Given the description of an element on the screen output the (x, y) to click on. 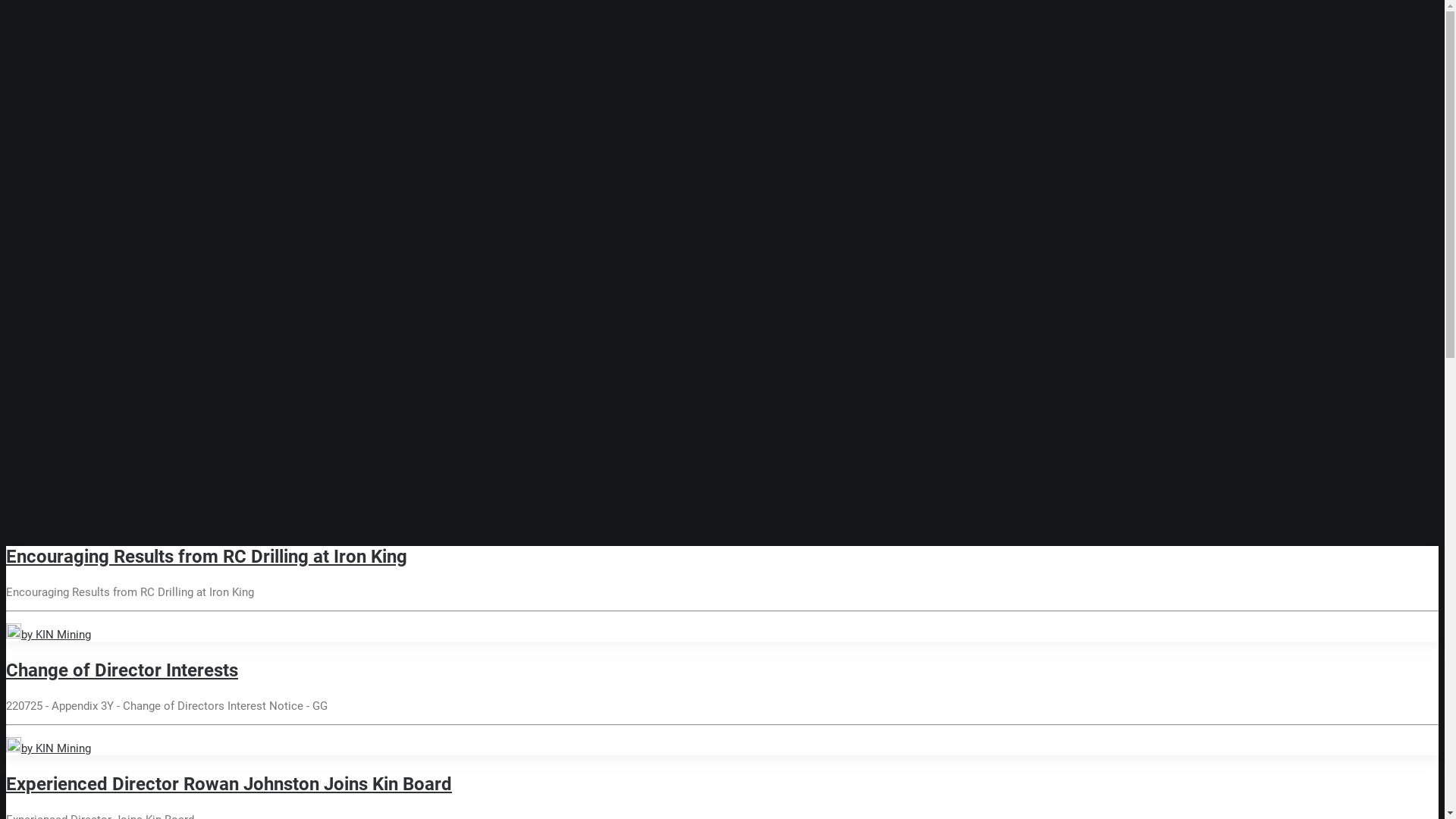
by KIN Mining Element type: text (48, 634)
Experienced Director Rowan Johnston Joins Kin Board Element type: text (228, 783)
Encouraging Results from RC Drilling at Iron King Element type: text (206, 556)
by KIN Mining Element type: text (48, 748)
Change of Director Interests Element type: text (122, 669)
